Given the description of an element on the screen output the (x, y) to click on. 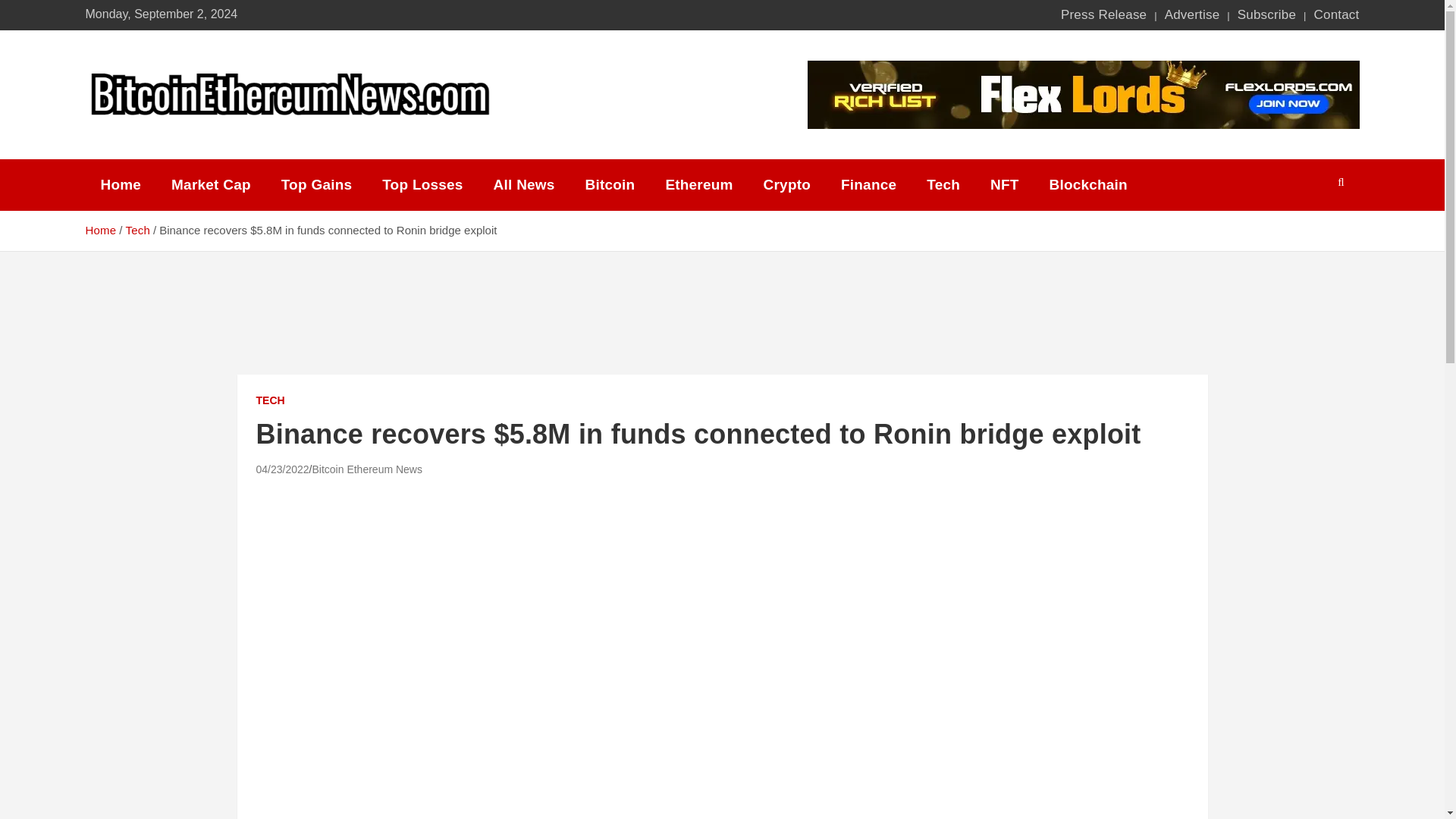
Ethereum News Articles (698, 184)
Home (100, 229)
Bitcoin News Articles (610, 184)
TECH (270, 400)
Tech (137, 229)
All News (524, 184)
Blockchain (1087, 184)
Bitcoin (610, 184)
Finance (868, 184)
BitcoinEthereumNews.com (280, 139)
